Given the description of an element on the screen output the (x, y) to click on. 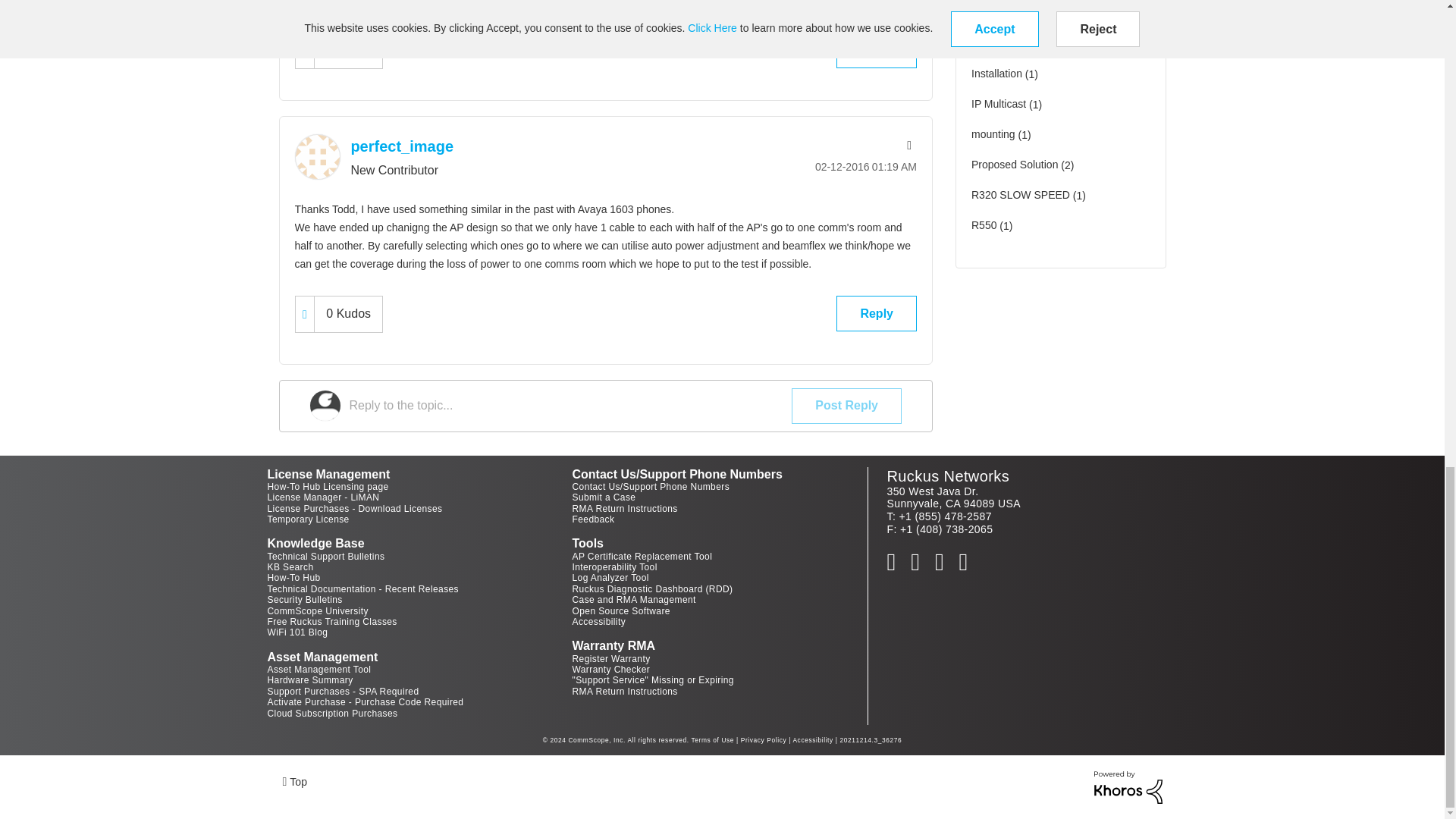
Top (293, 780)
The total number of kudos this post has received. (347, 50)
Top (293, 780)
